Given the description of an element on the screen output the (x, y) to click on. 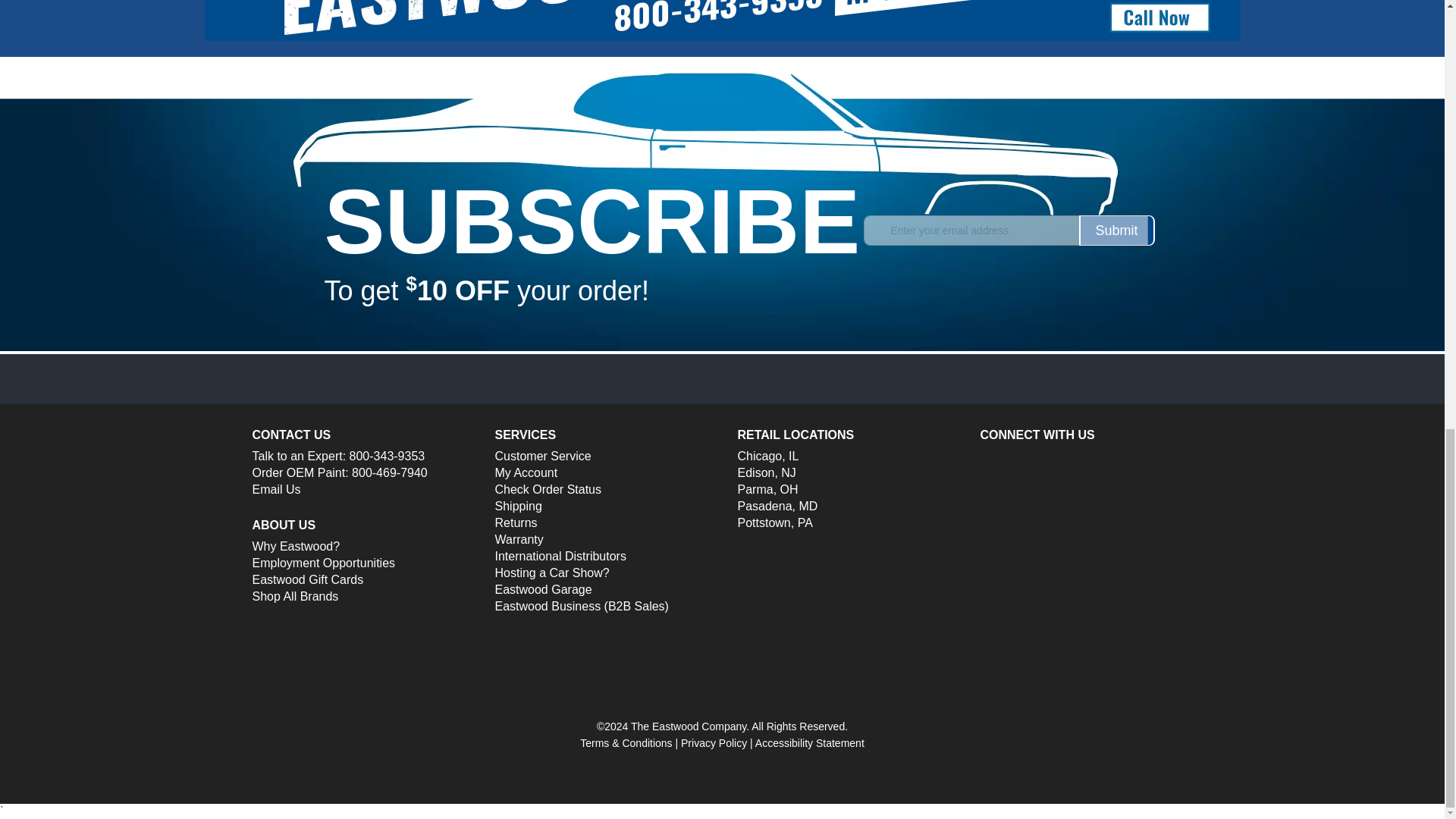
Eastwood Employment Opportunities (322, 563)
Submit (1116, 230)
Eastwood Customer Service Information (543, 456)
Shop All Brands Available at Eastwood (294, 596)
Eastwood Gift Cards (306, 580)
Why Eastwood? (295, 546)
Review the Eastwood Shipping and Freight Policy (518, 506)
Call to Order Eastwood OEM Paint (390, 472)
Call Eastwood and talk to an Automotive Expert (387, 455)
Eastwood Contact Us Form (275, 490)
Check Your Eastwood Order Status (548, 490)
Log into your Eastwood Customer Account (526, 472)
